Given the description of an element on the screen output the (x, y) to click on. 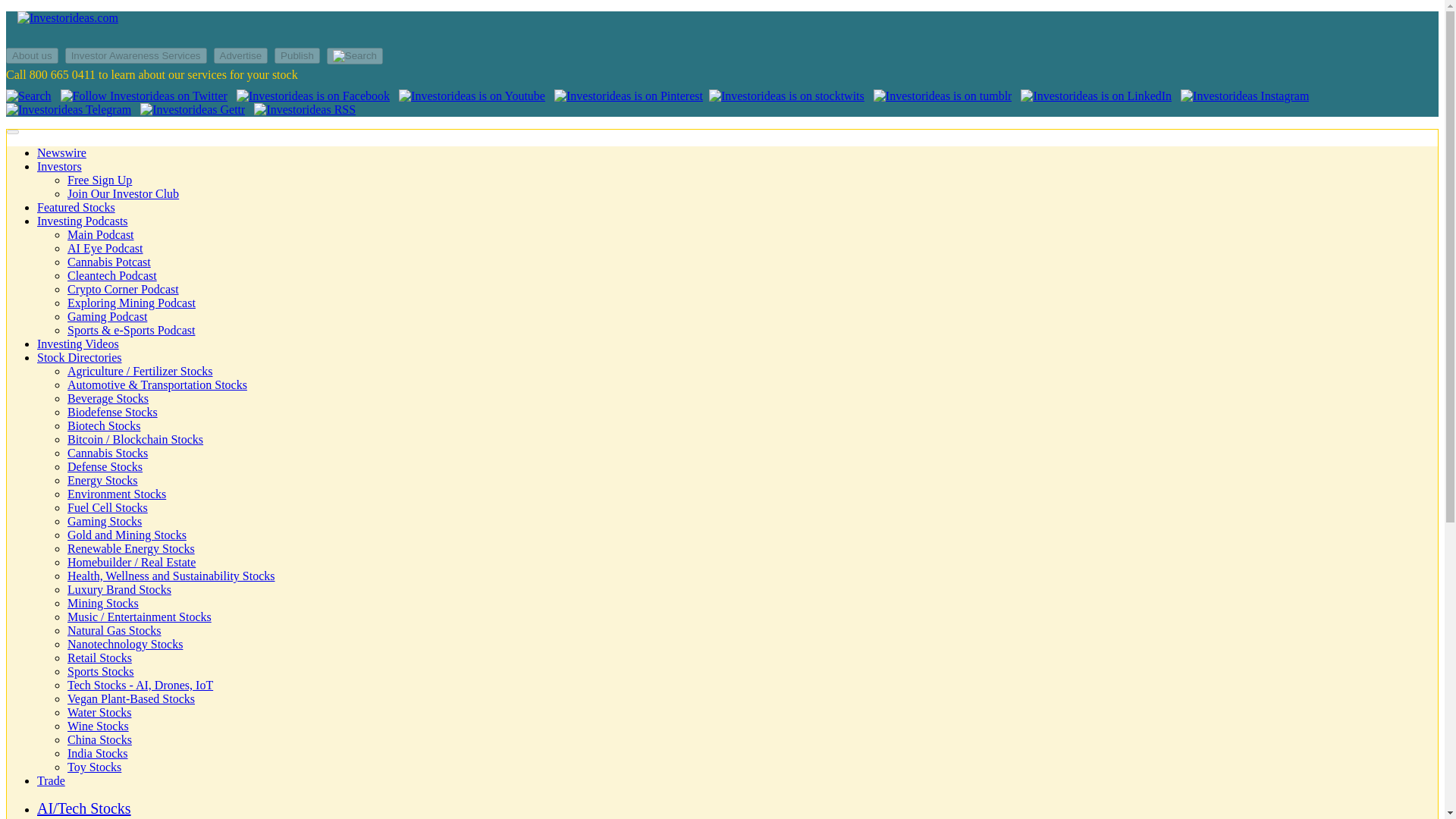
Cleantech Podcast (111, 275)
Main Podcast (99, 234)
About us (33, 54)
Crypto Corner Podcast (122, 288)
Newswire (61, 152)
Advertise (240, 55)
Investing Videos (78, 343)
Exploring Mining Podcast (130, 302)
About us (31, 55)
Join Our Investor Club (122, 193)
Cannabis Potcast (108, 261)
Publish (297, 55)
Investor Awareness Services (135, 55)
AI Eye Podcast (104, 247)
Publish (299, 54)
